Given the description of an element on the screen output the (x, y) to click on. 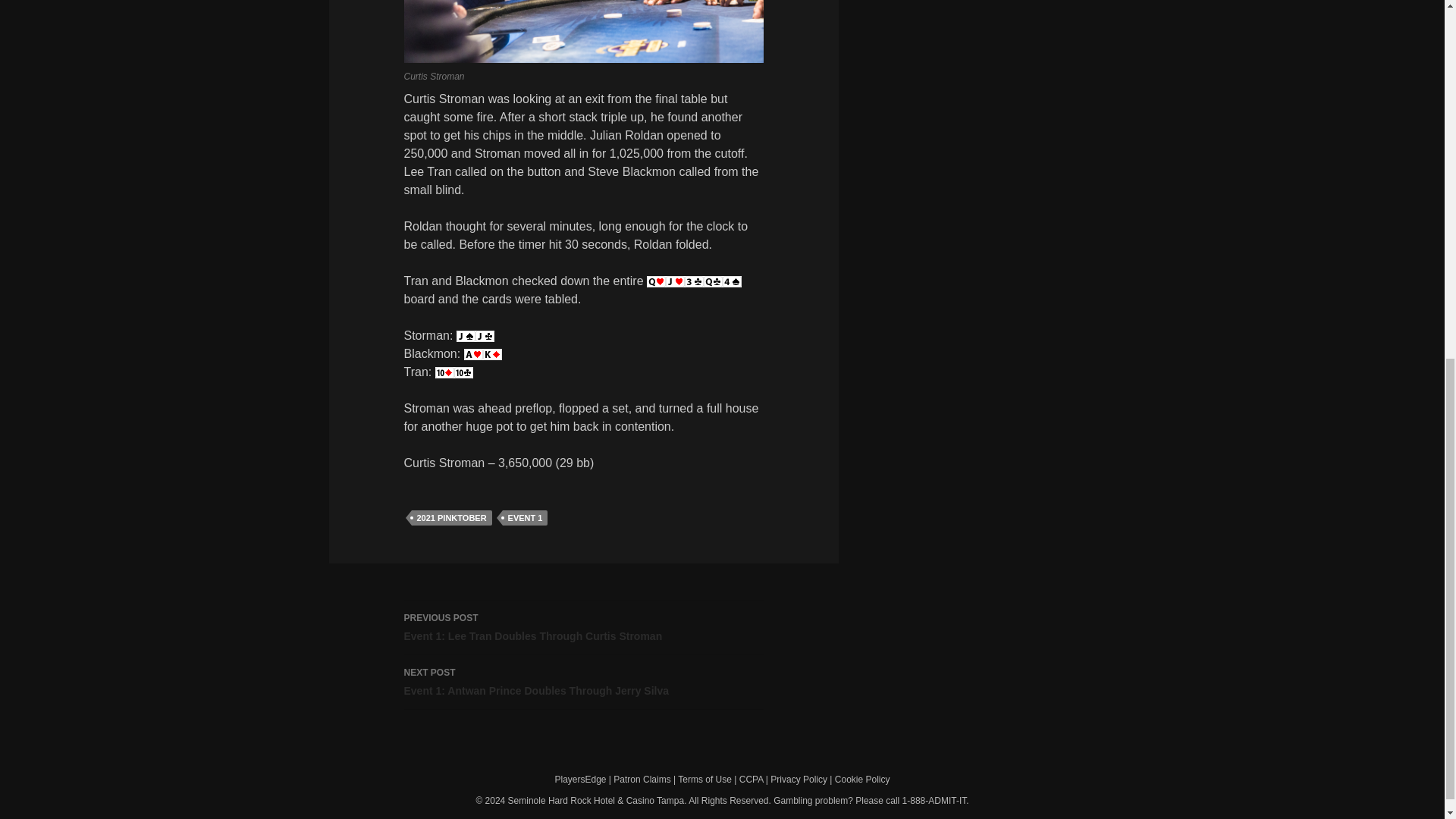
2021 PINKTOBER (451, 517)
EVENT 1 (582, 682)
